Given the description of an element on the screen output the (x, y) to click on. 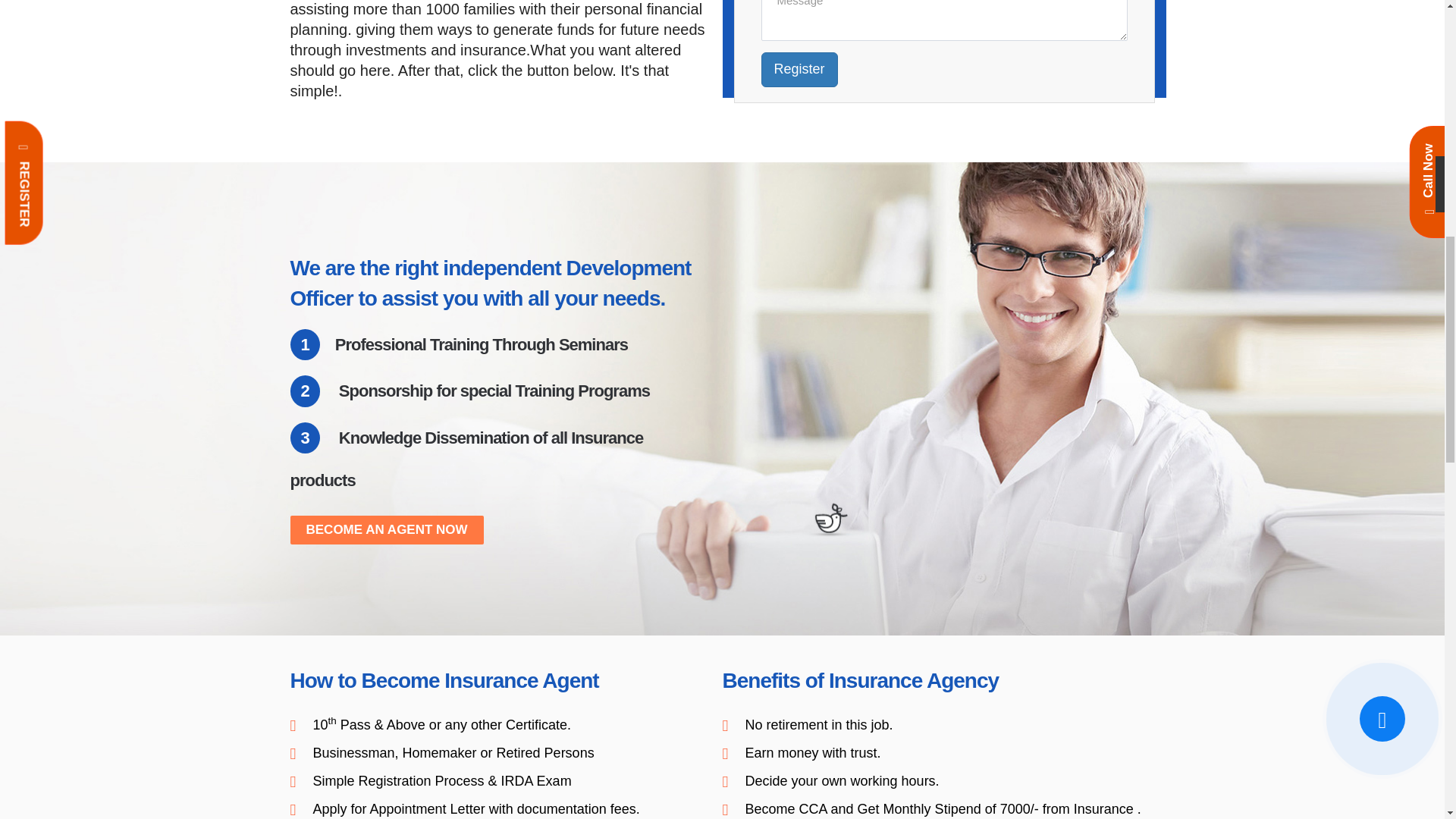
Register (799, 69)
Register (799, 69)
BECOME AN AGENT NOW (386, 529)
